Given the description of an element on the screen output the (x, y) to click on. 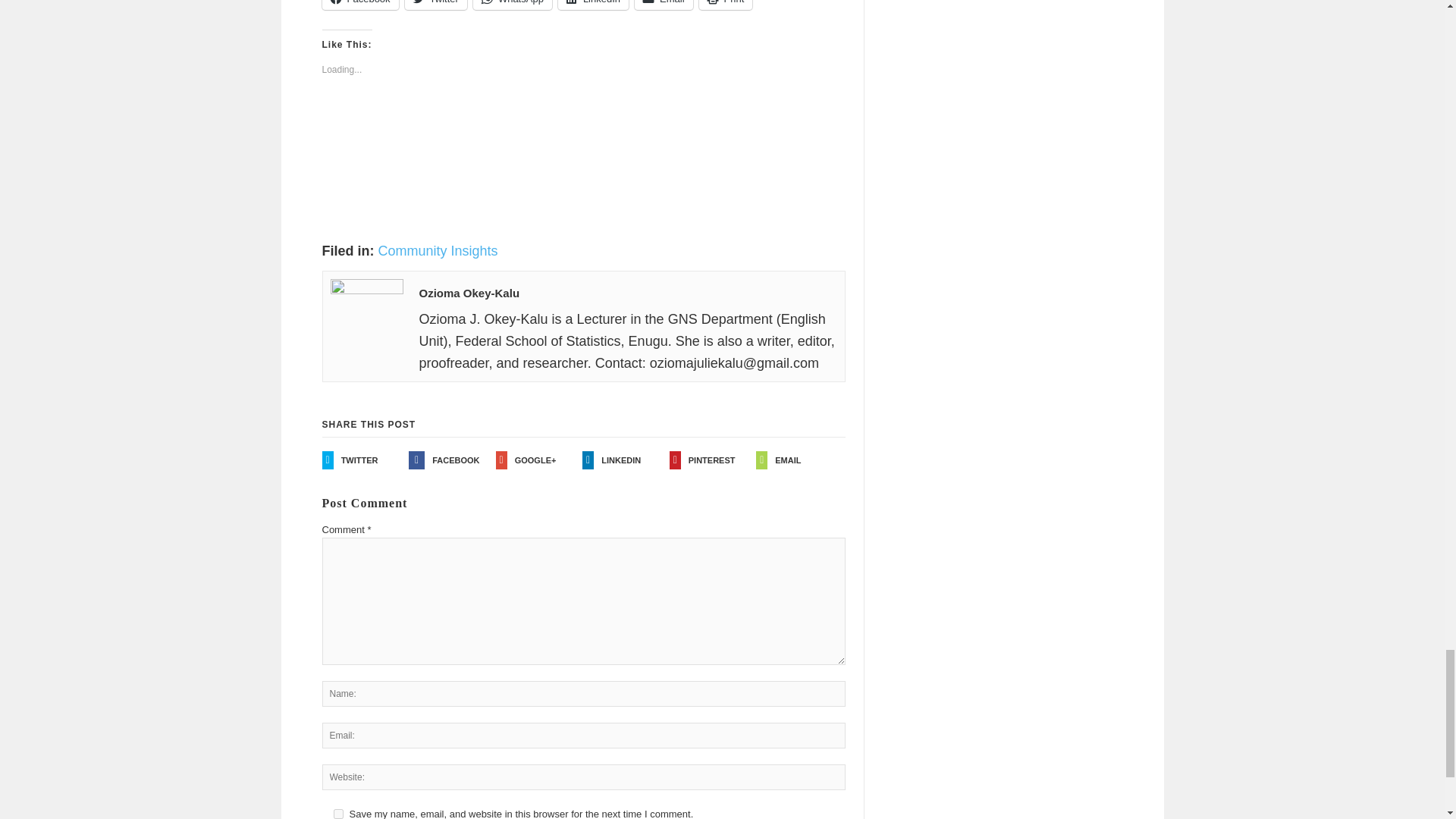
yes (338, 814)
